Given the description of an element on the screen output the (x, y) to click on. 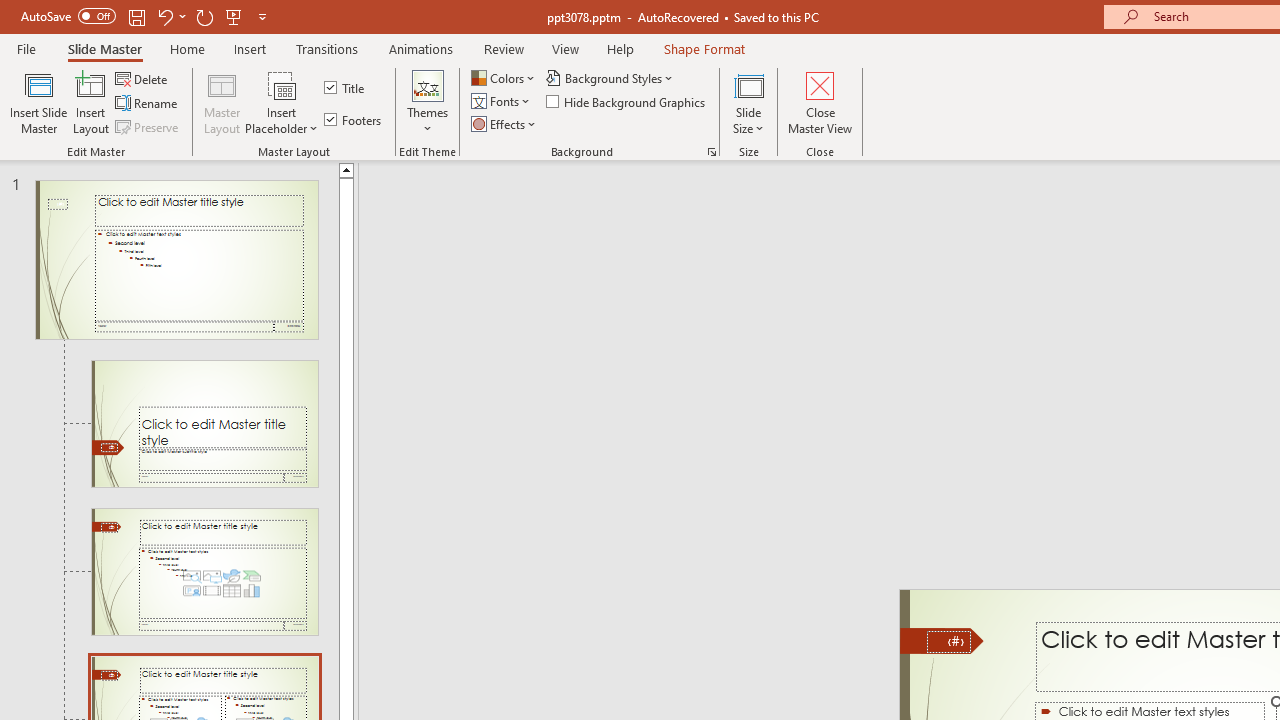
Freeform 11 (941, 640)
Effects (505, 124)
Master Layout... (221, 102)
Rename (148, 103)
Insert Layout (91, 102)
Preserve (148, 126)
